Given the description of an element on the screen output the (x, y) to click on. 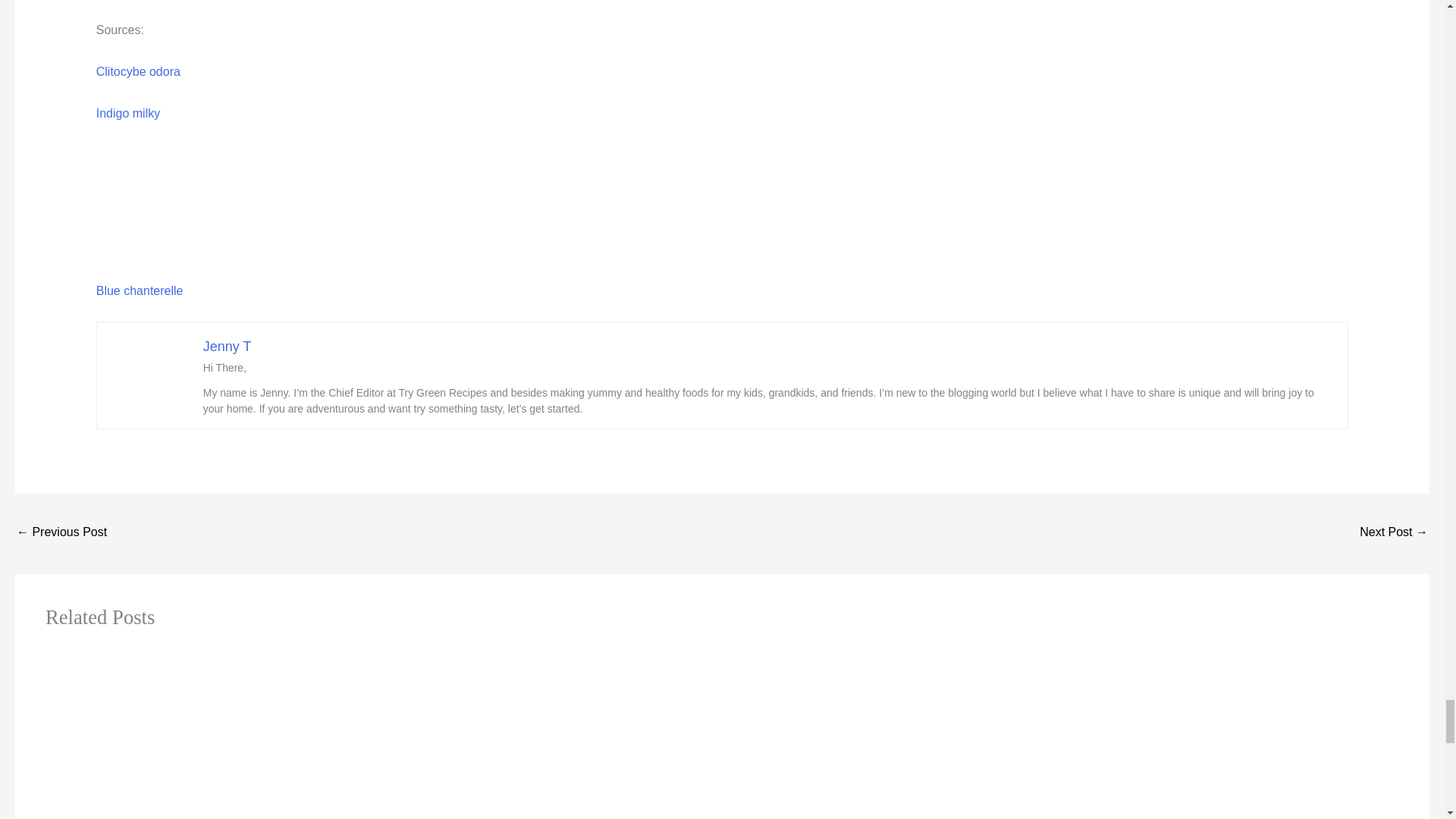
Indigo milky (128, 113)
Jenny T (227, 346)
Blue chanterelle (139, 290)
Clitocybe odora (138, 71)
10 Types of Mushrooms with Gills (61, 533)
